Given the description of an element on the screen output the (x, y) to click on. 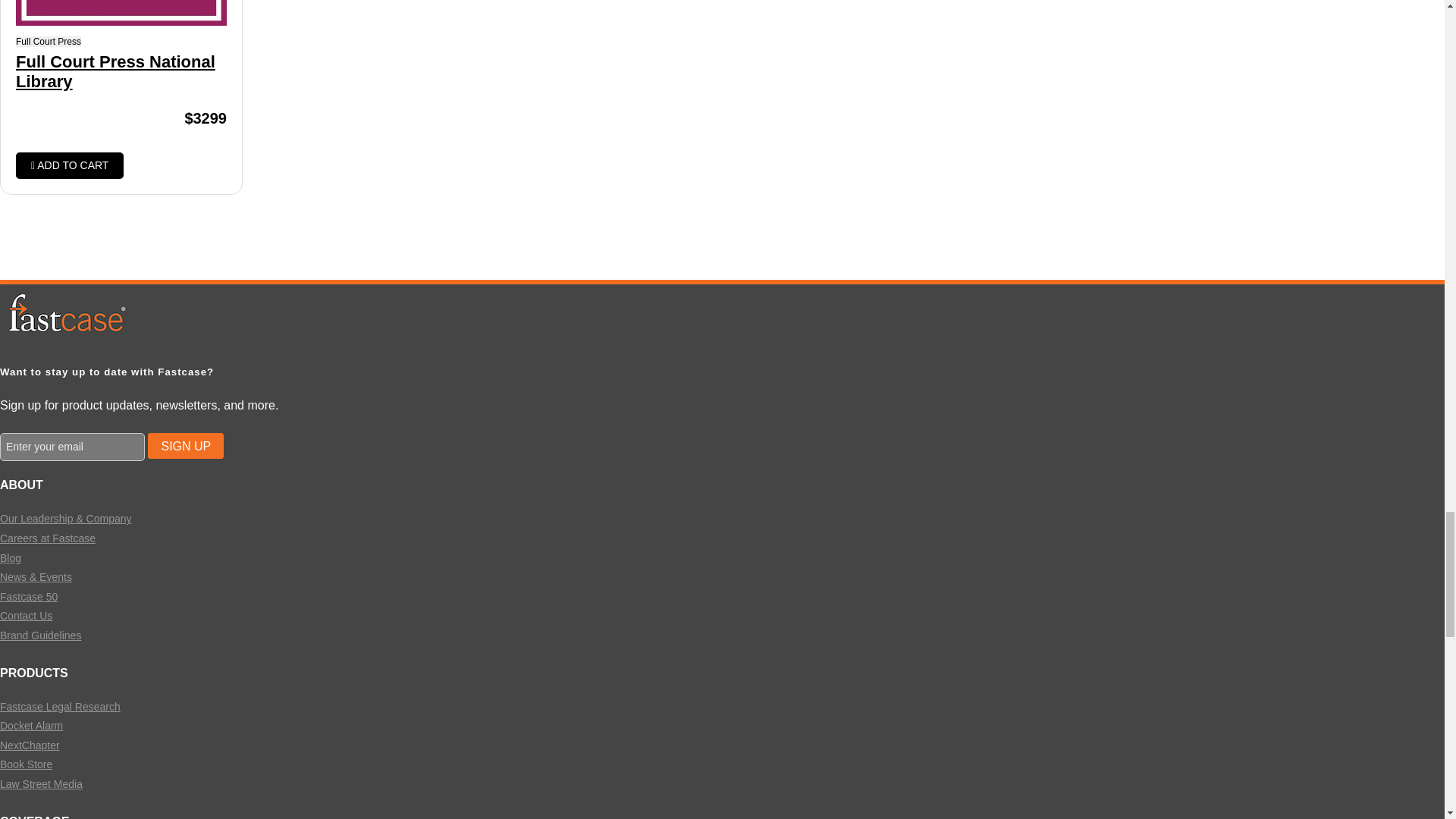
SIGN UP (186, 445)
Full Court Press National Library (121, 72)
 ADD TO CART (69, 165)
